Given the description of an element on the screen output the (x, y) to click on. 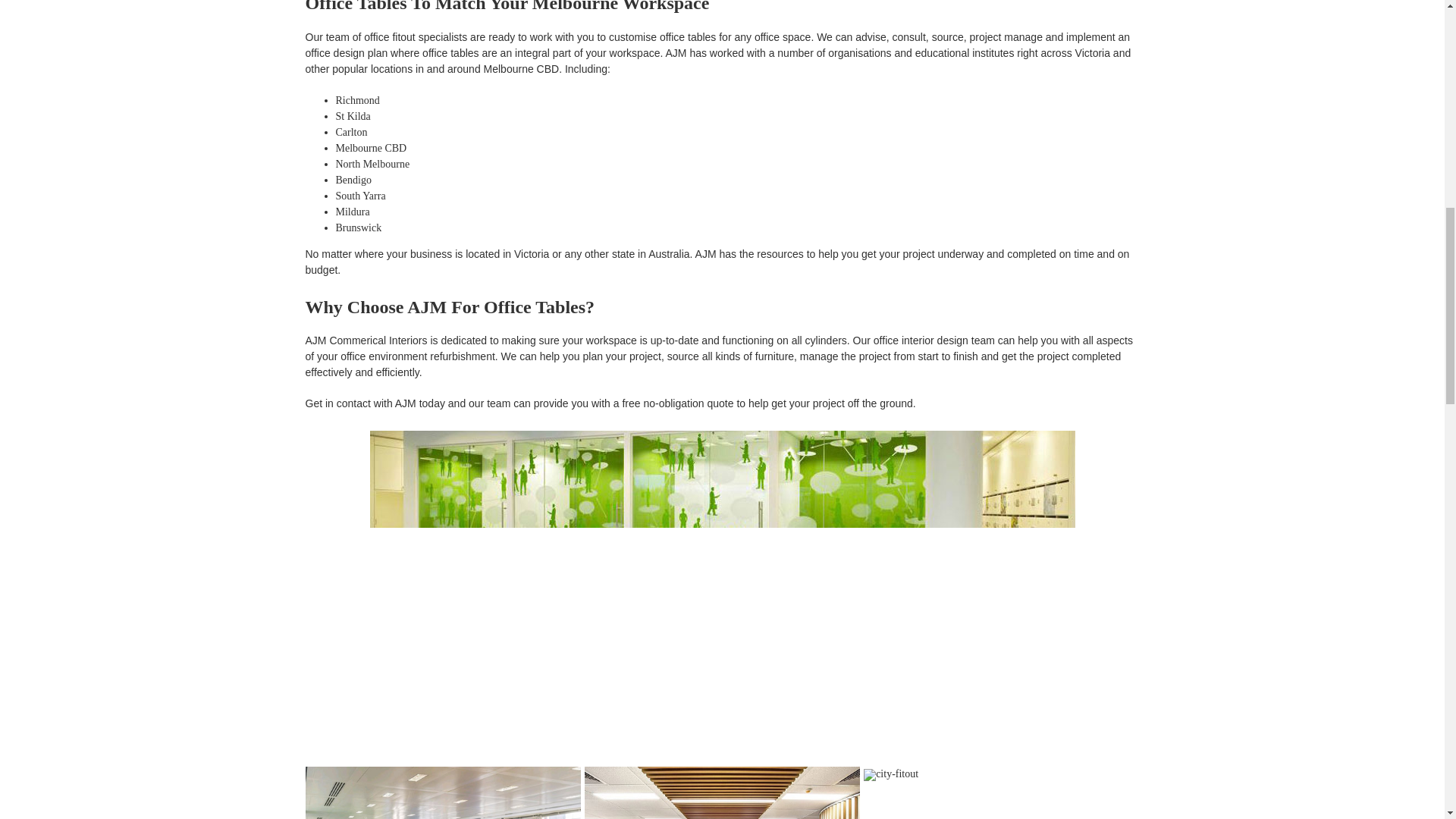
city-fitout-3 (890, 775)
city-fitout-2 (722, 792)
city-fitout-1 (441, 792)
